Given the description of an element on the screen output the (x, y) to click on. 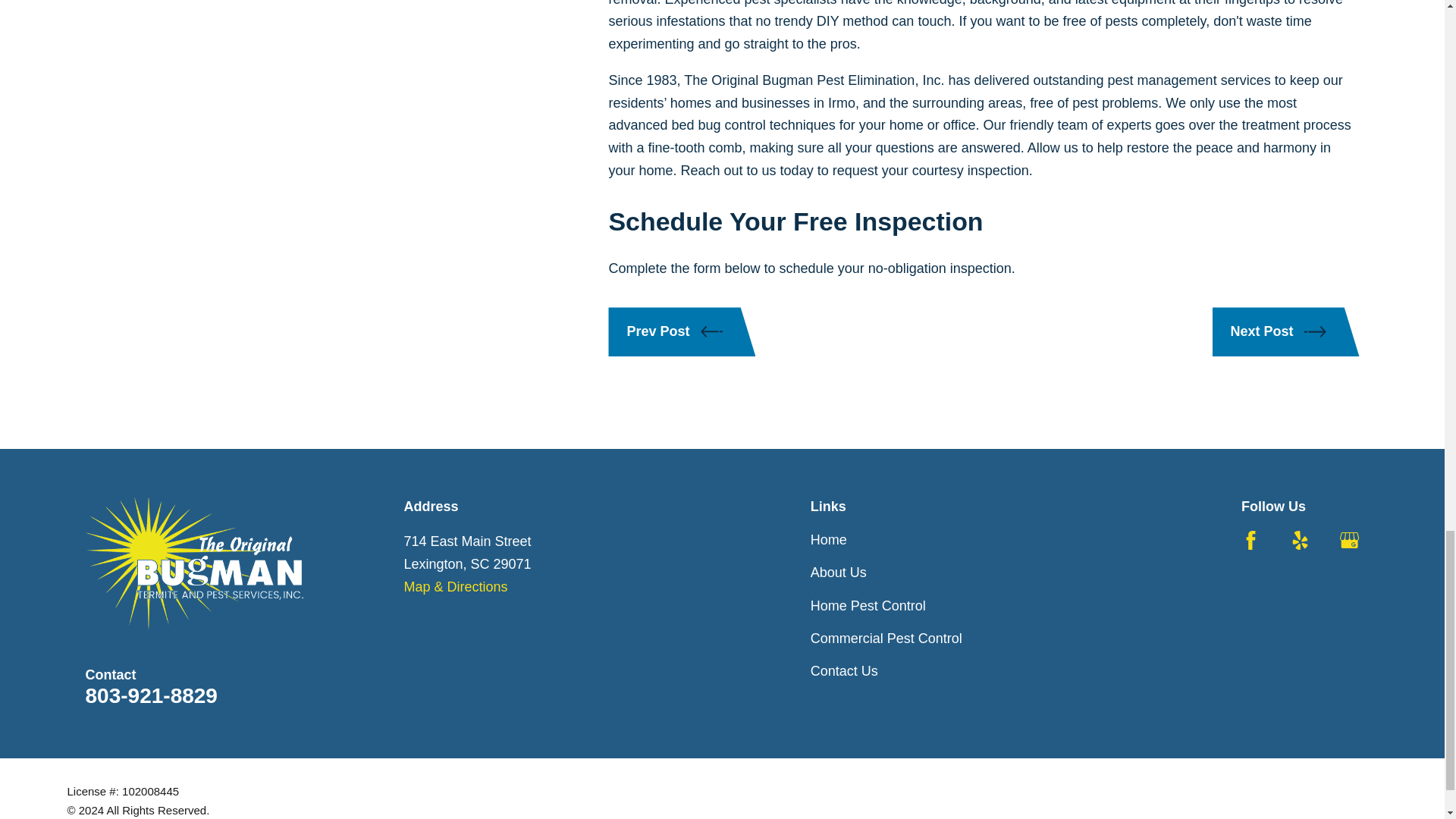
Facebook (1250, 539)
Home (193, 563)
Google Business Profile (1348, 539)
Yelp (1299, 539)
